Given the description of an element on the screen output the (x, y) to click on. 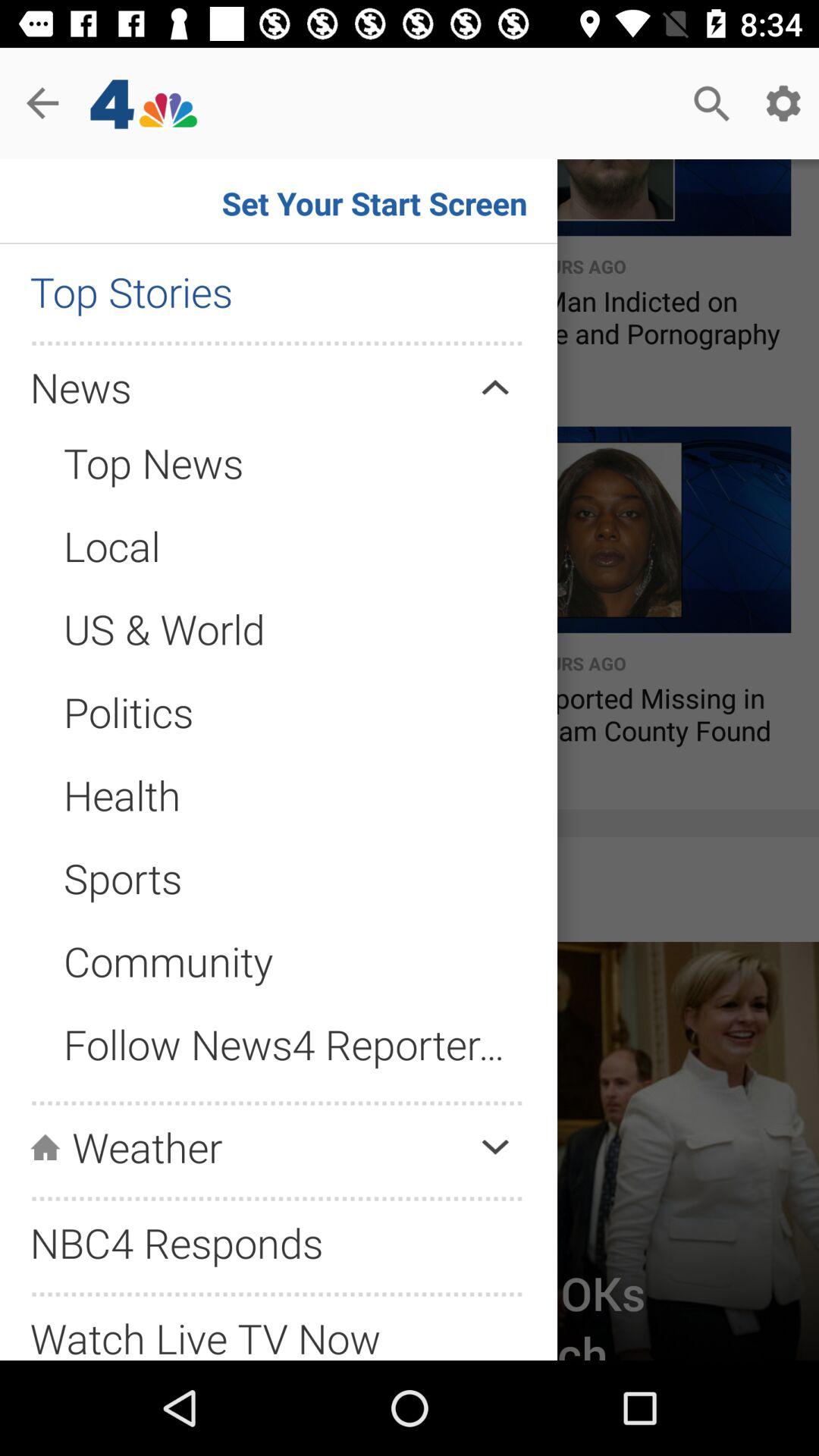
click the search button on the web page (711, 103)
click the button set your start screen on the web page (389, 200)
